Given the description of an element on the screen output the (x, y) to click on. 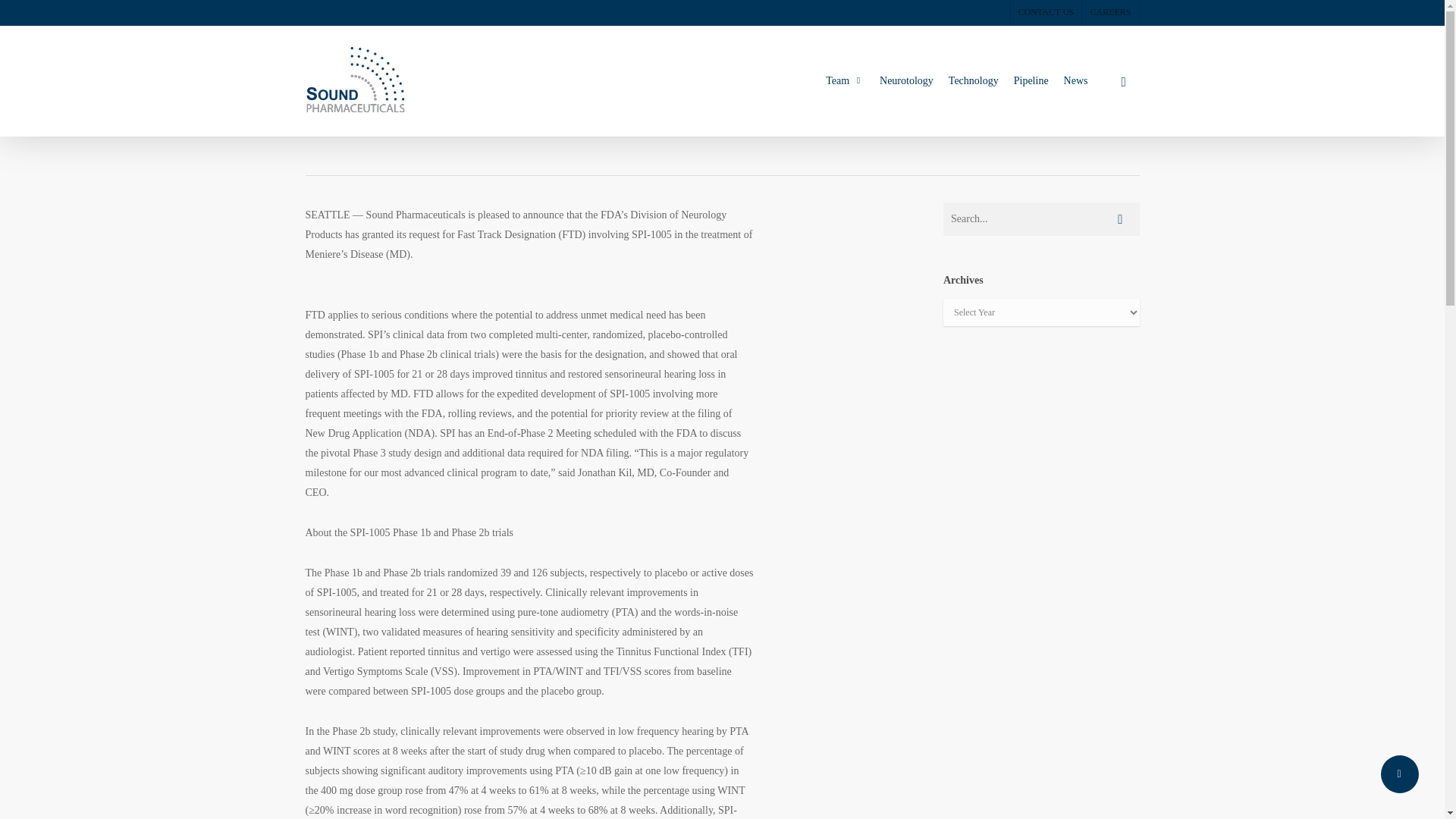
Pipeline (1031, 80)
CAREERS (1109, 12)
Team (845, 80)
CONTACT US (1045, 12)
Search for: (1041, 218)
News (1076, 80)
Neurotology (906, 80)
Technology (973, 80)
